Given the description of an element on the screen output the (x, y) to click on. 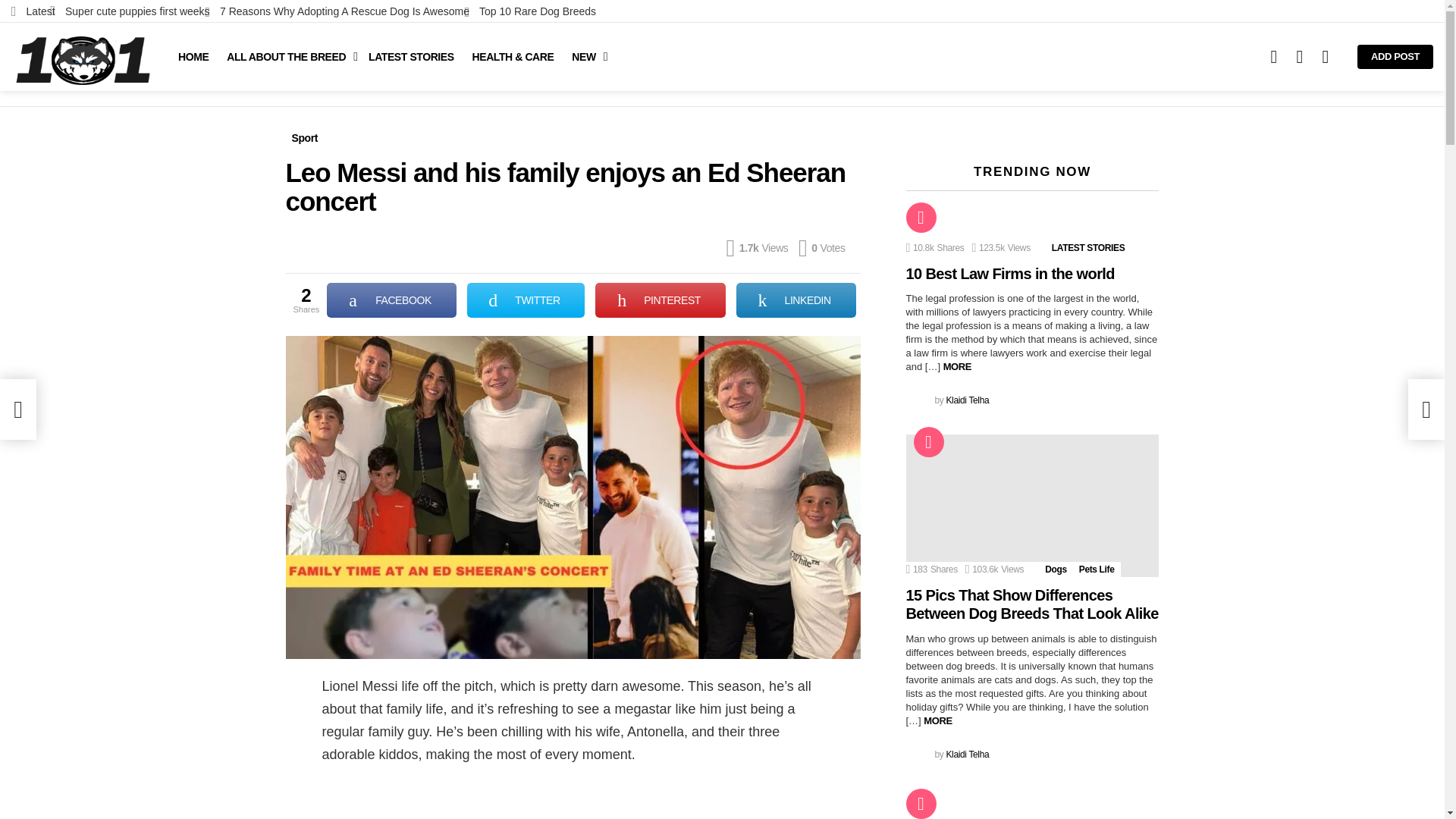
Share on LinkedIn (796, 299)
NEW (585, 56)
LATEST STORIES (411, 56)
Share on Facebook (390, 299)
Top 10 Rare Dog Breeds (529, 10)
Latest (33, 10)
HOME (192, 56)
ALL ABOUT THE BREED (288, 56)
Share on Pinterest (660, 299)
Share on Twitter (526, 299)
7 Reasons Why Adopting A Rescue Dog Is Awesome (336, 10)
Super cute puppies first weeks (129, 10)
